Given the description of an element on the screen output the (x, y) to click on. 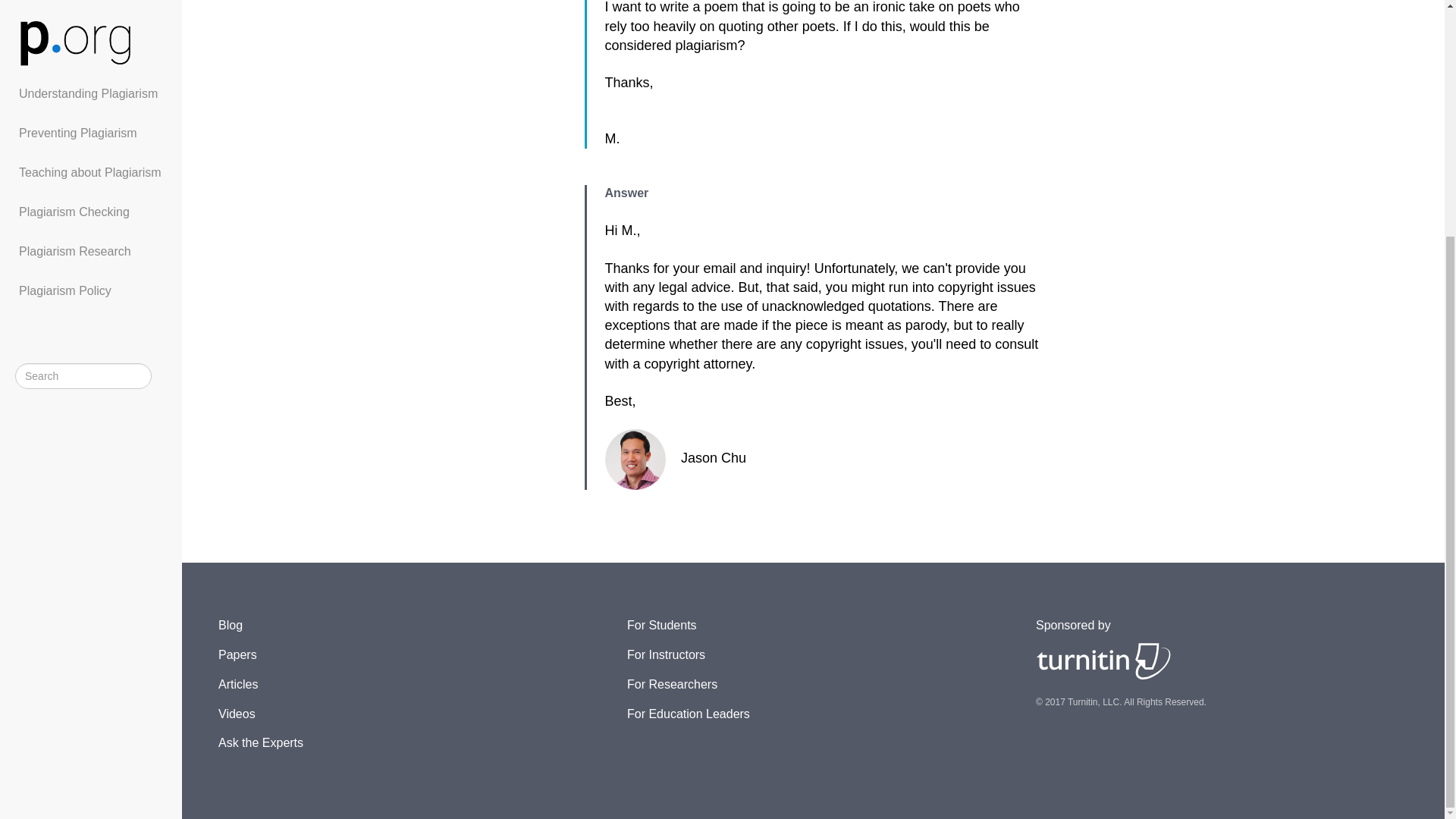
For Researchers (672, 684)
For Students (662, 625)
For Education Leaders (688, 713)
For Instructors (665, 654)
Ask the Experts (260, 742)
Articles (237, 684)
Videos (237, 713)
Blog (230, 625)
Papers (237, 654)
